Given the description of an element on the screen output the (x, y) to click on. 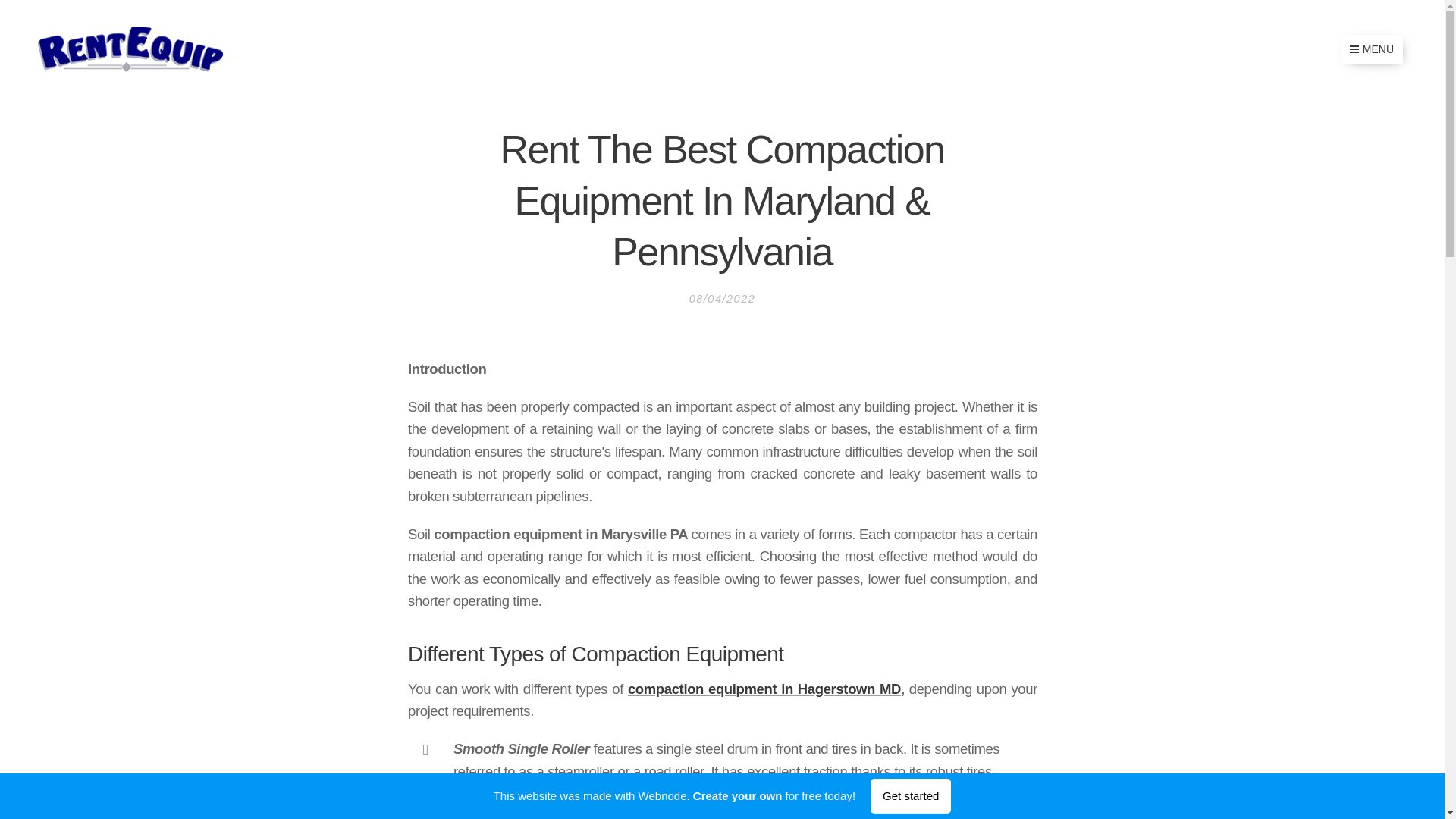
MENU (1371, 49)
compaction equipment in Hagerstown MD (763, 688)
